Given the description of an element on the screen output the (x, y) to click on. 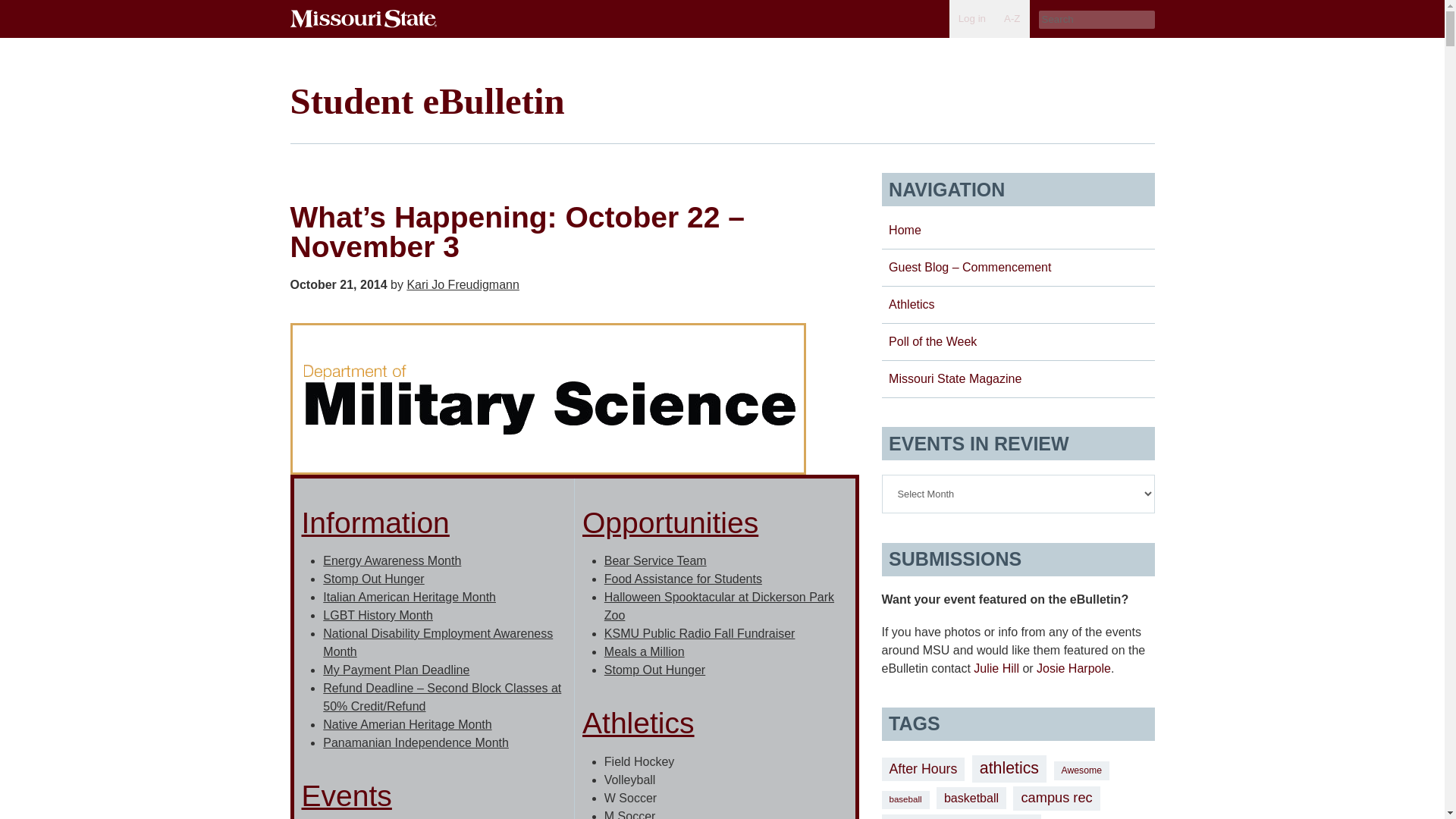
A-Z (1011, 18)
Log in (971, 18)
Student eBulletin (426, 101)
Kari Jo Freudigmann (462, 284)
